Given the description of an element on the screen output the (x, y) to click on. 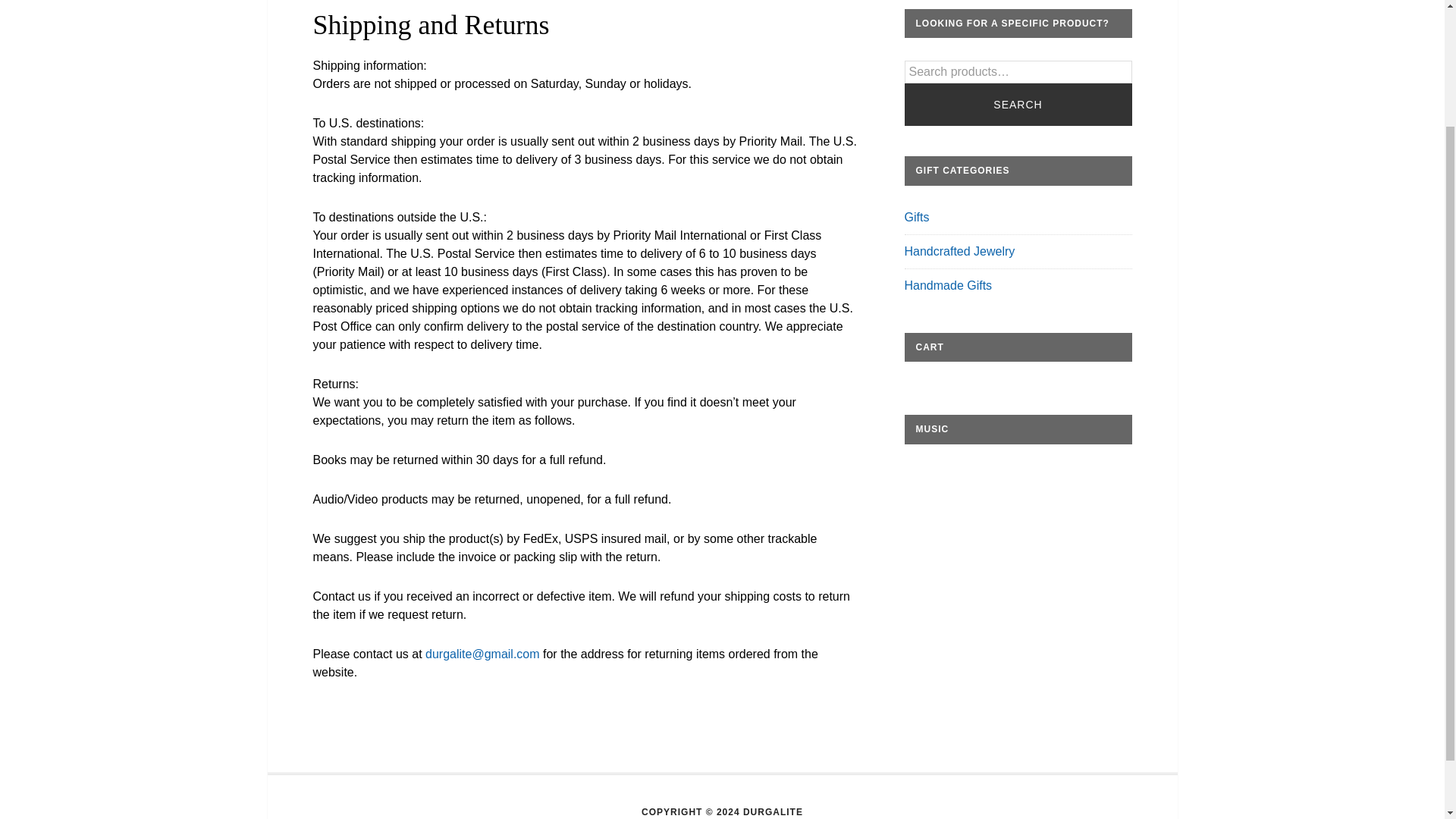
SEARCH (1017, 104)
Handcrafted Jewelry (959, 250)
Handmade Gifts (947, 285)
Gifts (916, 216)
